Given the description of an element on the screen output the (x, y) to click on. 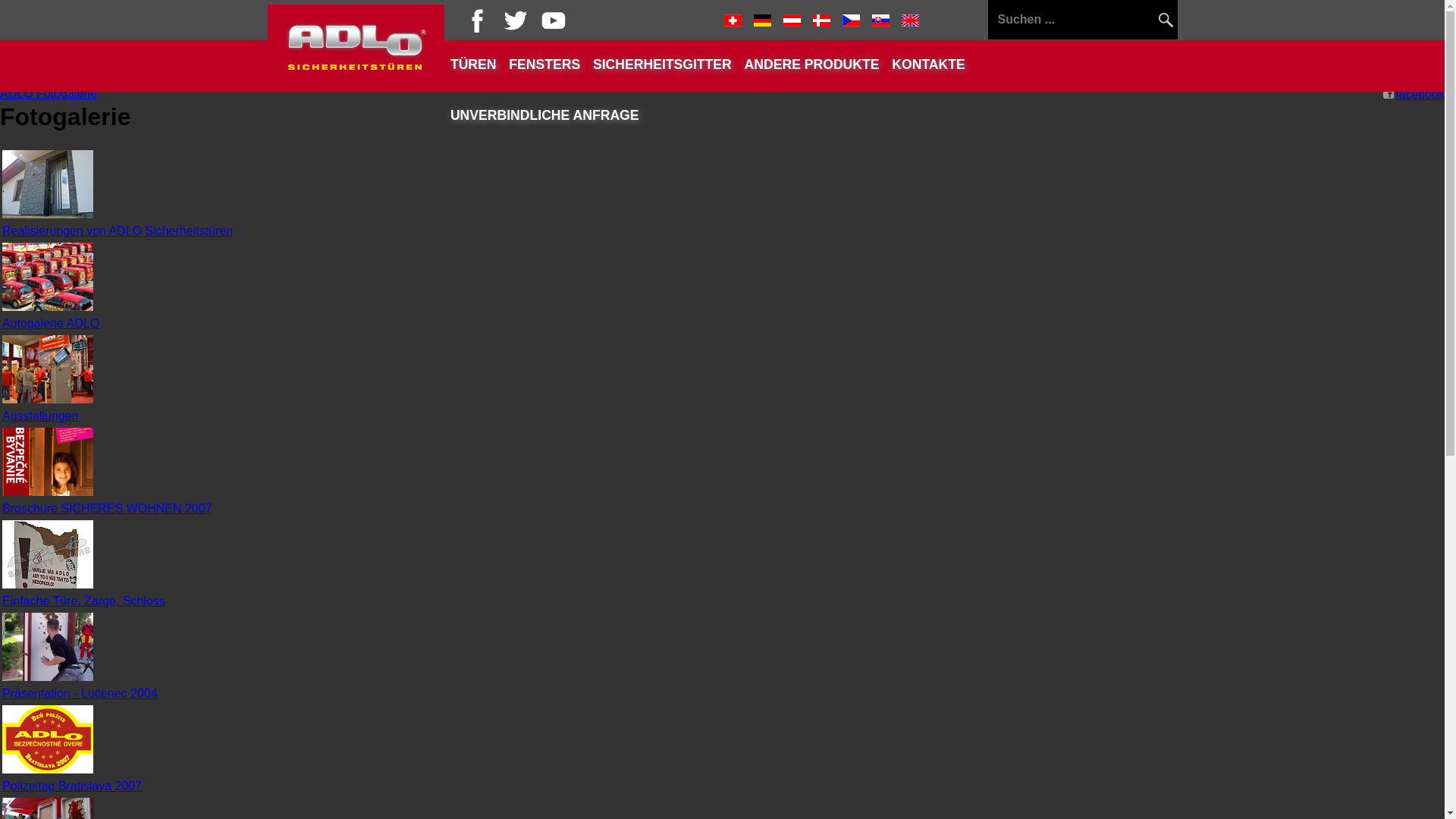
Polizeitag Bratislava 2007 Element type: text (71, 785)
Schweiz Element type: hover (732, 20)
KONTAKTE Element type: text (928, 64)
English Element type: hover (910, 20)
SICHERHEITSGITTER Element type: text (662, 64)
Ausstellungen Element type: text (40, 415)
FENSTERS Element type: text (544, 64)
facebook Element type: text (1413, 93)
ADLO Element type: text (18, 93)
Fotogalerie Element type: text (66, 93)
Danmark Element type: hover (821, 20)
Deutschland Element type: hover (762, 20)
Slovensko Element type: hover (880, 20)
UNVERBINDLICHE ANFRAGE Element type: text (544, 115)
Autogalerie ADLO Element type: text (50, 322)
ANDERE PRODUKTE Element type: text (811, 64)
